Given the description of an element on the screen output the (x, y) to click on. 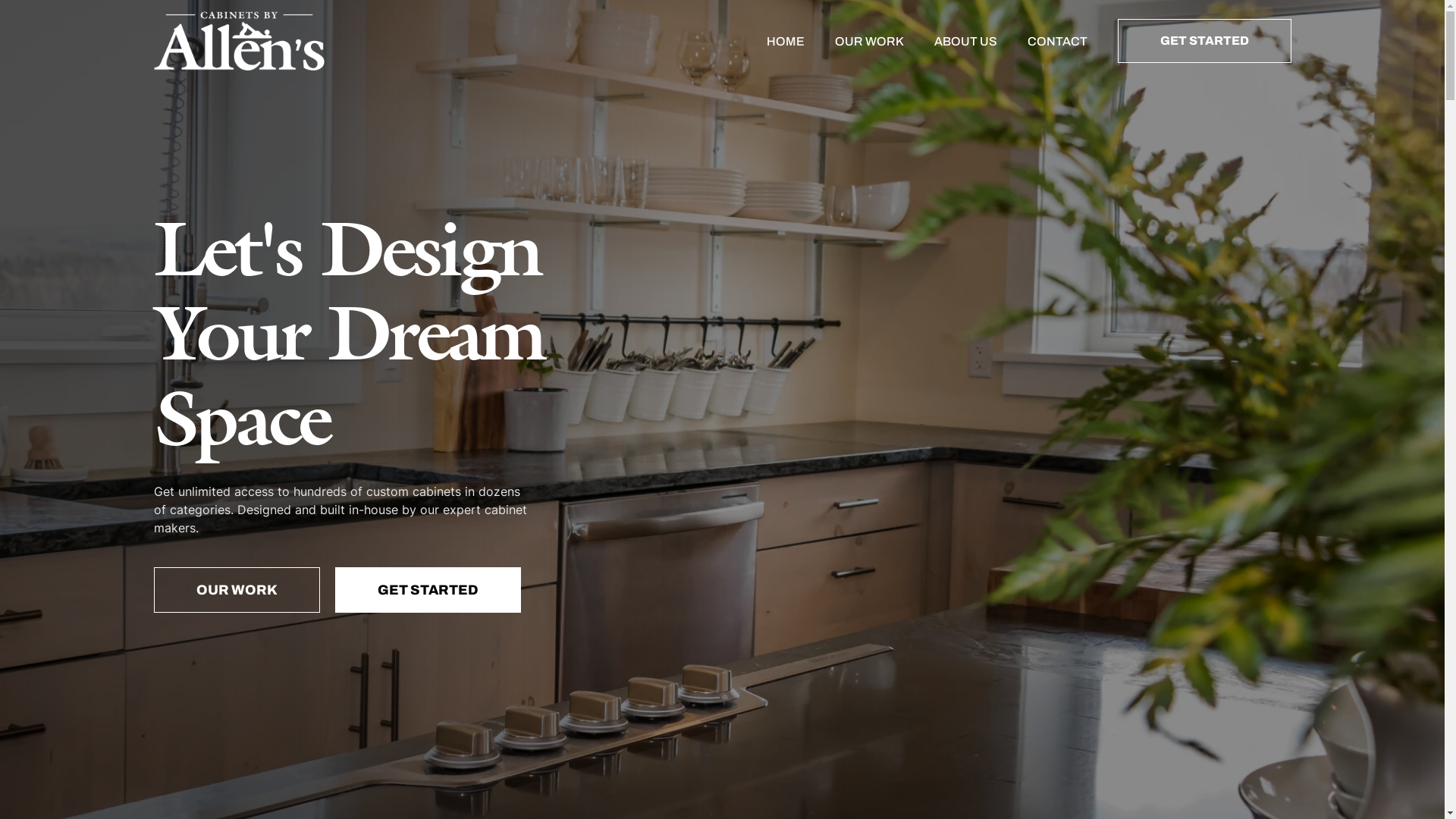
166 Commercial Street
Middleton, N.S.
B0S 1P0 Element type: text (1149, 525)
F.A.Q. Element type: text (863, 529)
(902) 825-4854 Element type: text (1149, 565)
Warranty Element type: text (863, 507)
Privacy Policy Element type: text (863, 551)
GET STARTED Element type: text (427, 589)
Home Element type: text (580, 507)
Our work Element type: text (580, 529)
About us Element type: text (580, 551)
Contact Element type: text (580, 573)
OUR WORK Element type: text (236, 589)
info@cabinetsbyallens.ca Element type: text (1149, 586)
Submit your review Element type: text (1149, 608)
HOME Element type: text (784, 40)
OUR WORK Element type: text (868, 40)
ABOUT US Element type: text (965, 40)
GET STARTED Element type: text (1204, 40)
CONTACT Element type: text (1056, 40)
